Given the description of an element on the screen output the (x, y) to click on. 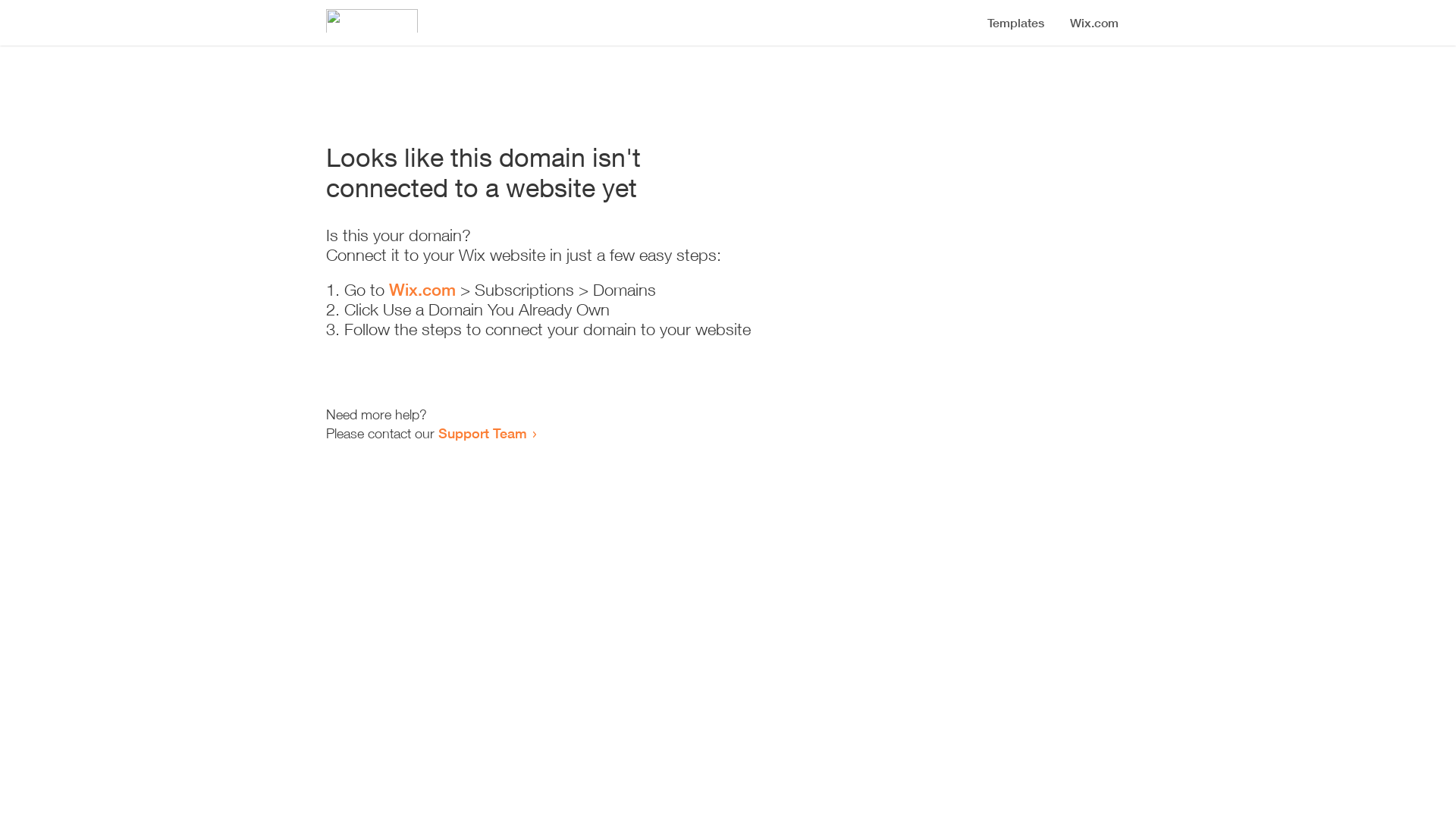
Support Team Element type: text (482, 432)
Wix.com Element type: text (422, 289)
